Given the description of an element on the screen output the (x, y) to click on. 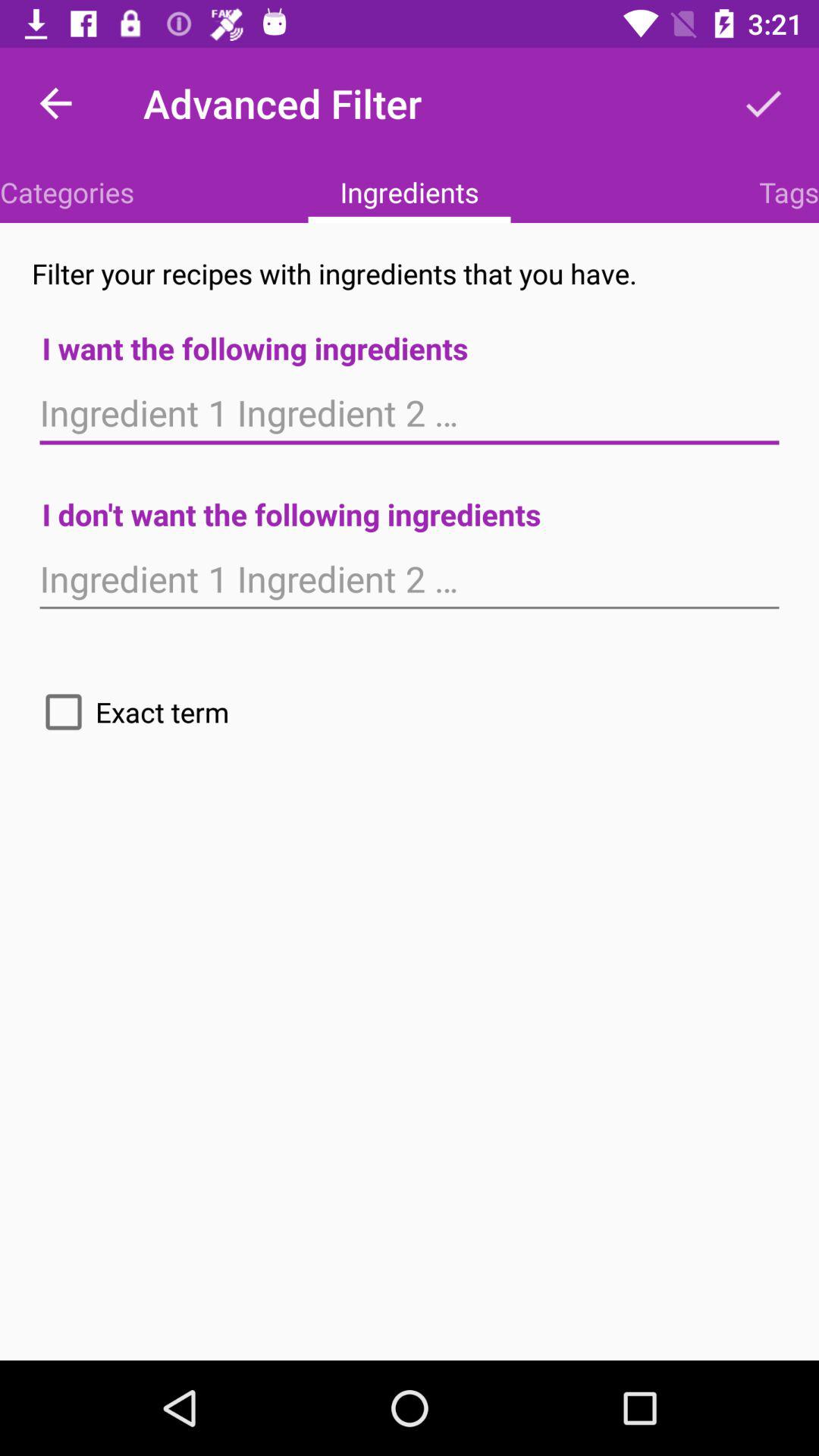
select the icon above the i want the (789, 192)
